Given the description of an element on the screen output the (x, y) to click on. 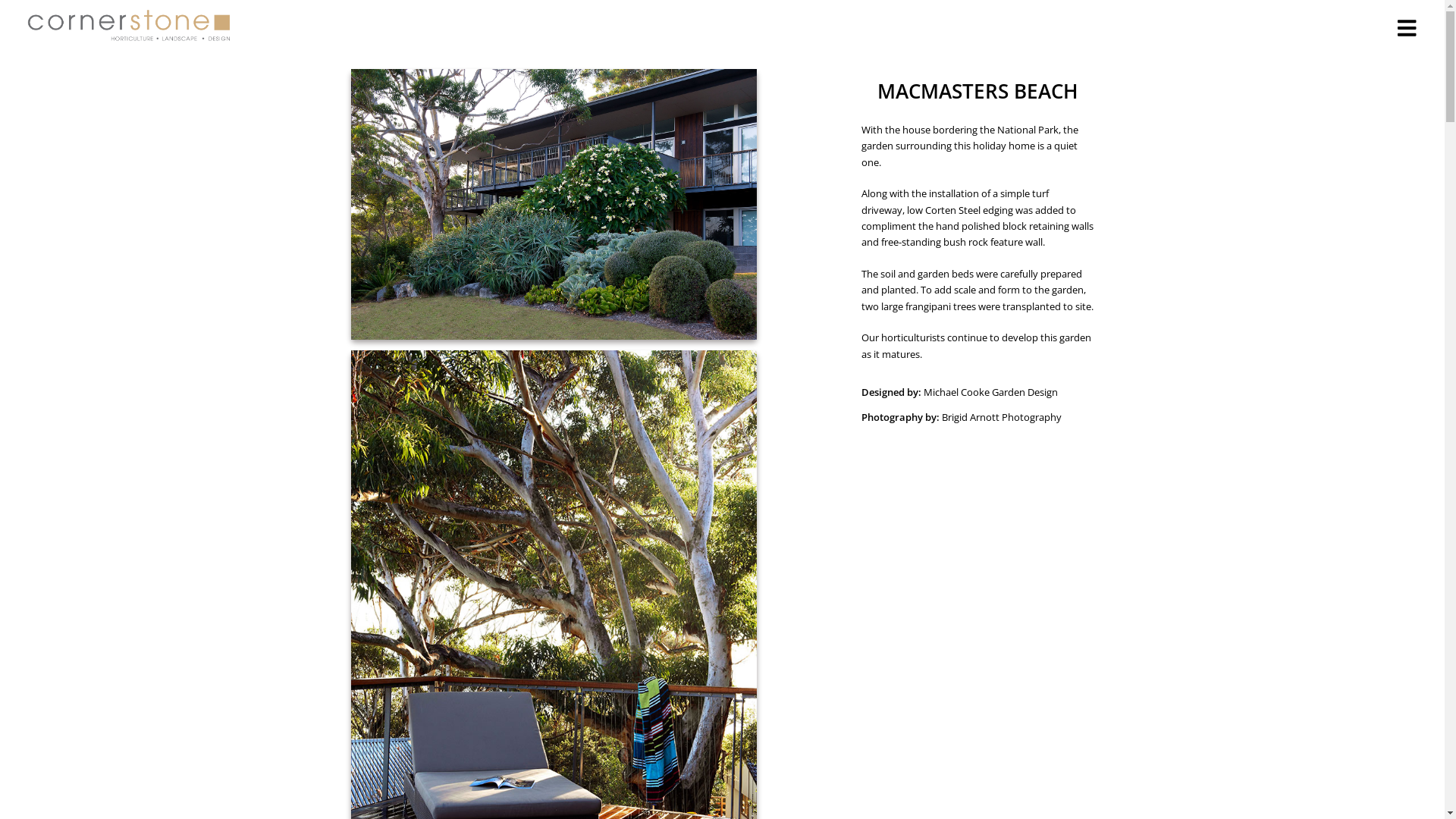
Cornerstone Landscaping Element type: hover (128, 25)
MacMasters-Beach-(3) Element type: hover (553, 203)
